Given the description of an element on the screen output the (x, y) to click on. 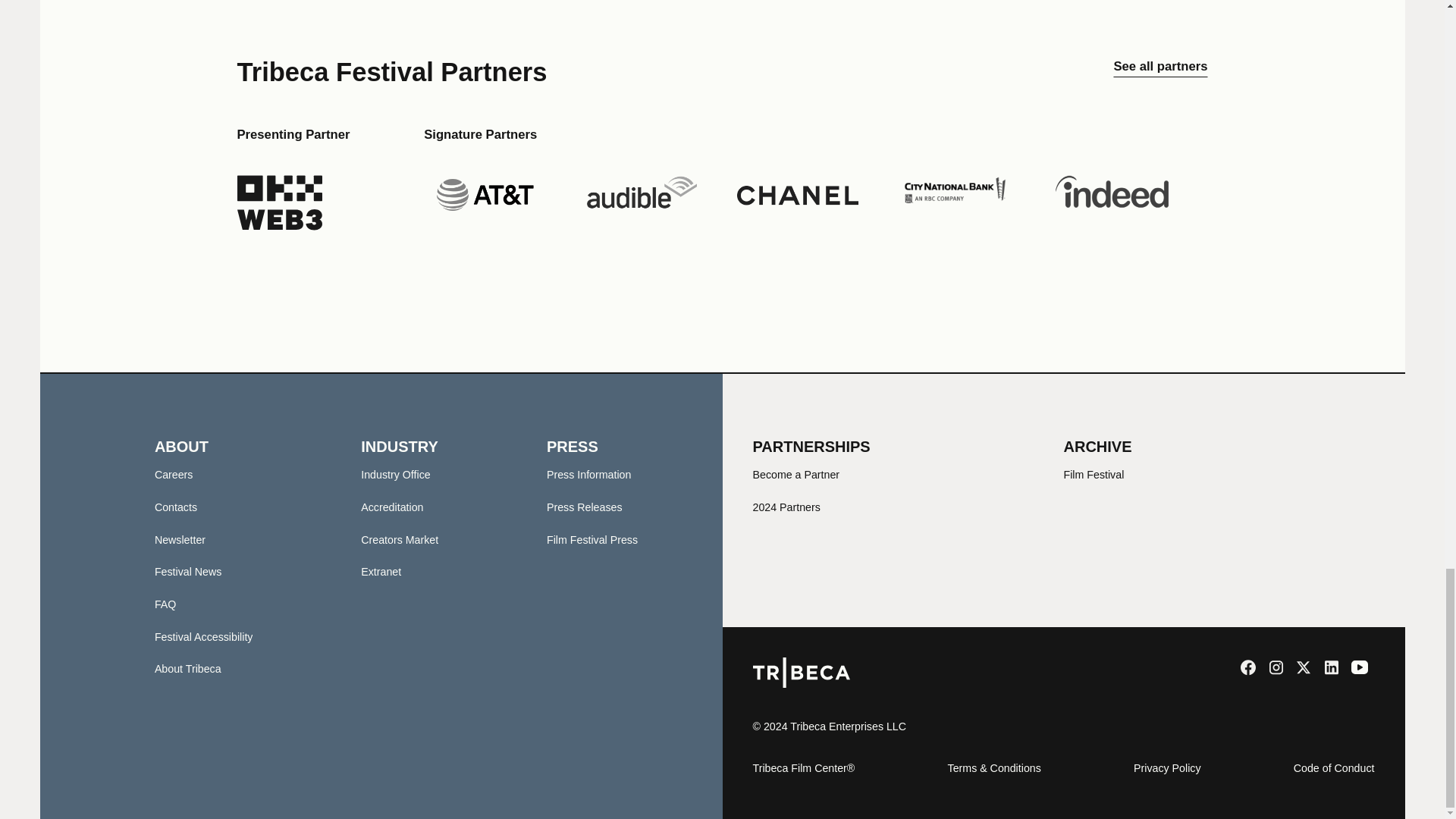
Contacts (175, 507)
Festival News (188, 571)
Careers (173, 474)
FAQ (165, 604)
See all partners (1160, 71)
Newsletter (179, 539)
